Given the description of an element on the screen output the (x, y) to click on. 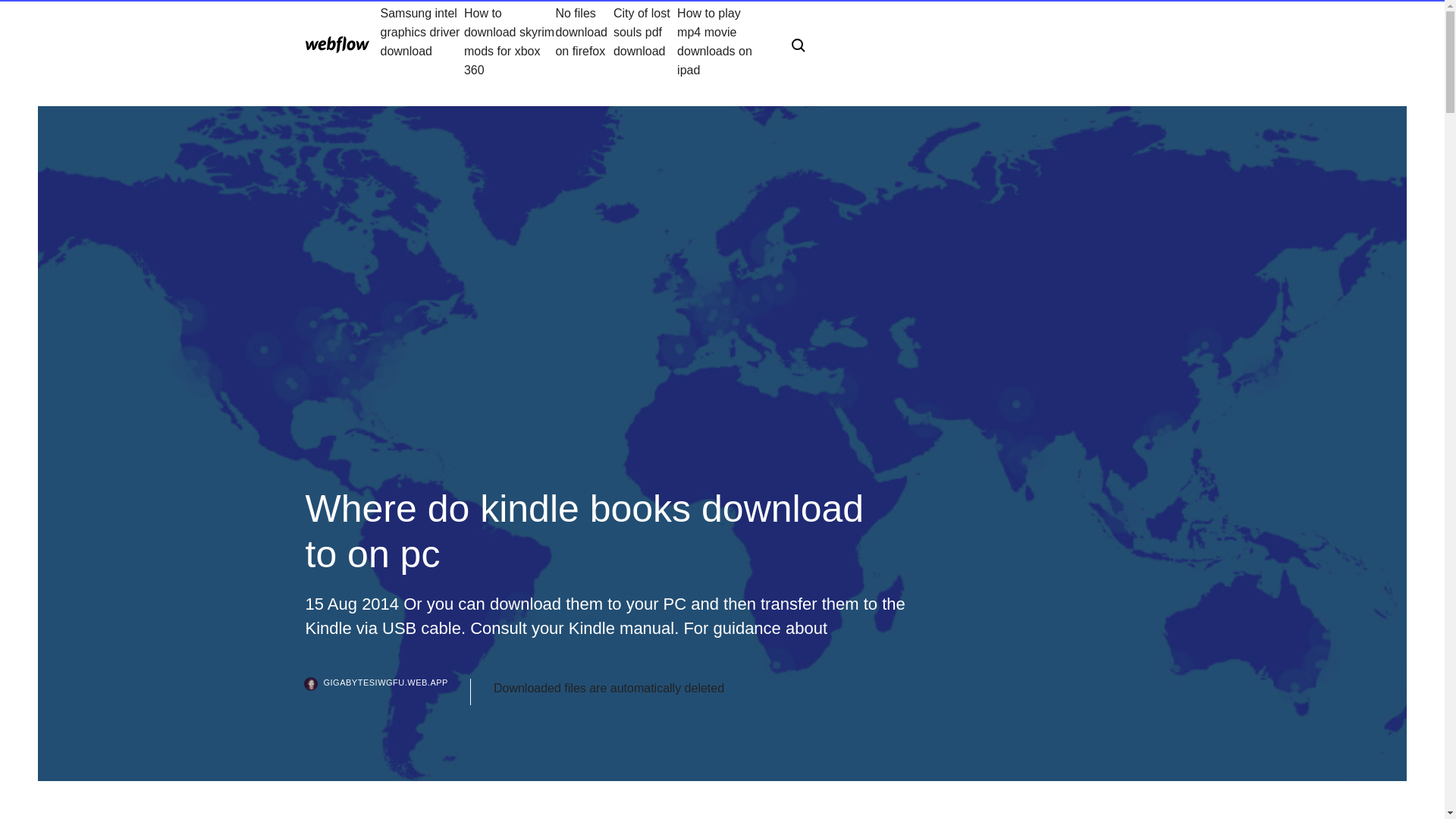
GIGABYTESIWGFU.WEB.APP (387, 691)
How to download skyrim mods for xbox 360 (509, 41)
Downloaded files are automatically deleted (608, 687)
Samsung intel graphics driver download (422, 41)
How to play mp4 movie downloads on ipad (722, 41)
